Given the description of an element on the screen output the (x, y) to click on. 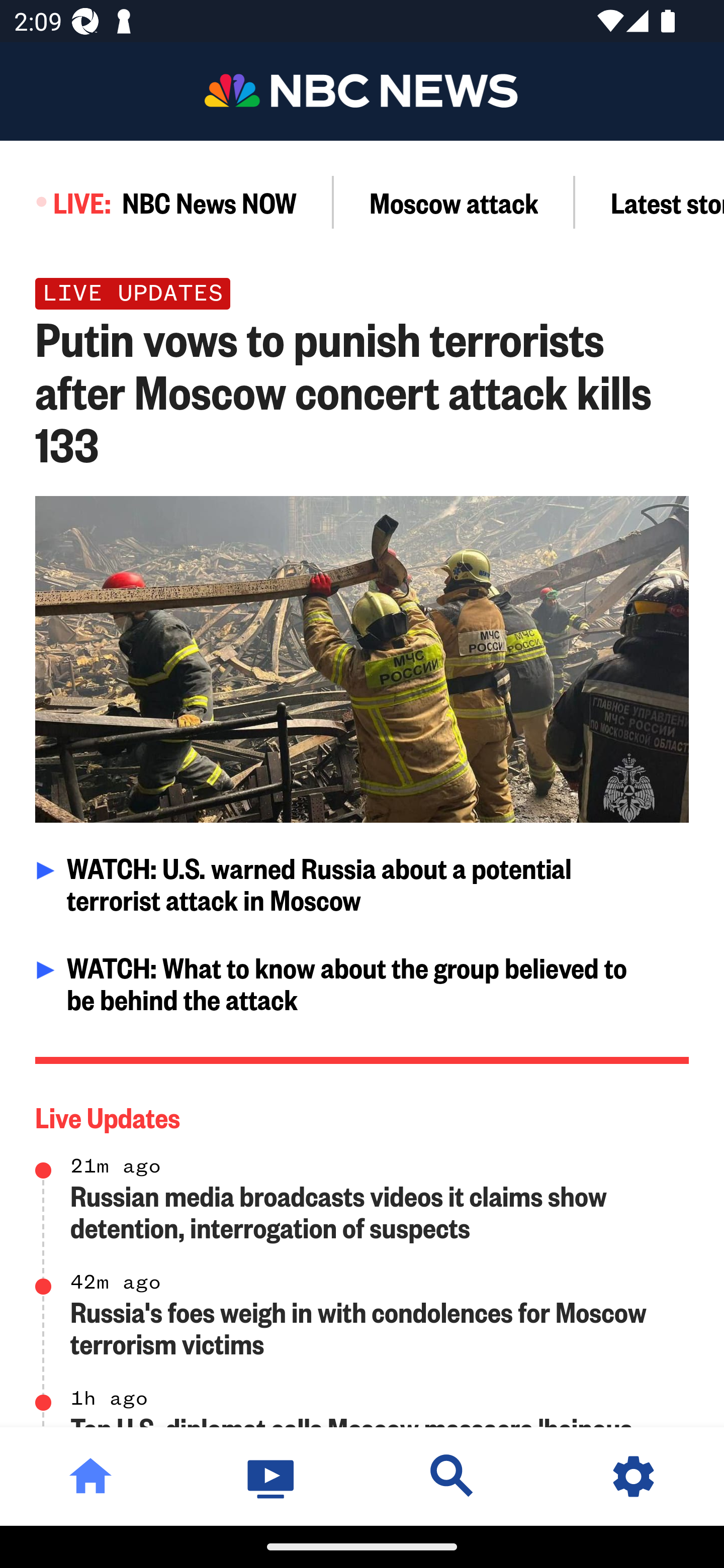
LIVE:  NBC News NOW (166, 202)
Moscow attack (453, 202)
Latest stories Section,Latest stories (649, 202)
Watch (271, 1475)
Discover (452, 1475)
Settings (633, 1475)
